Given the description of an element on the screen output the (x, y) to click on. 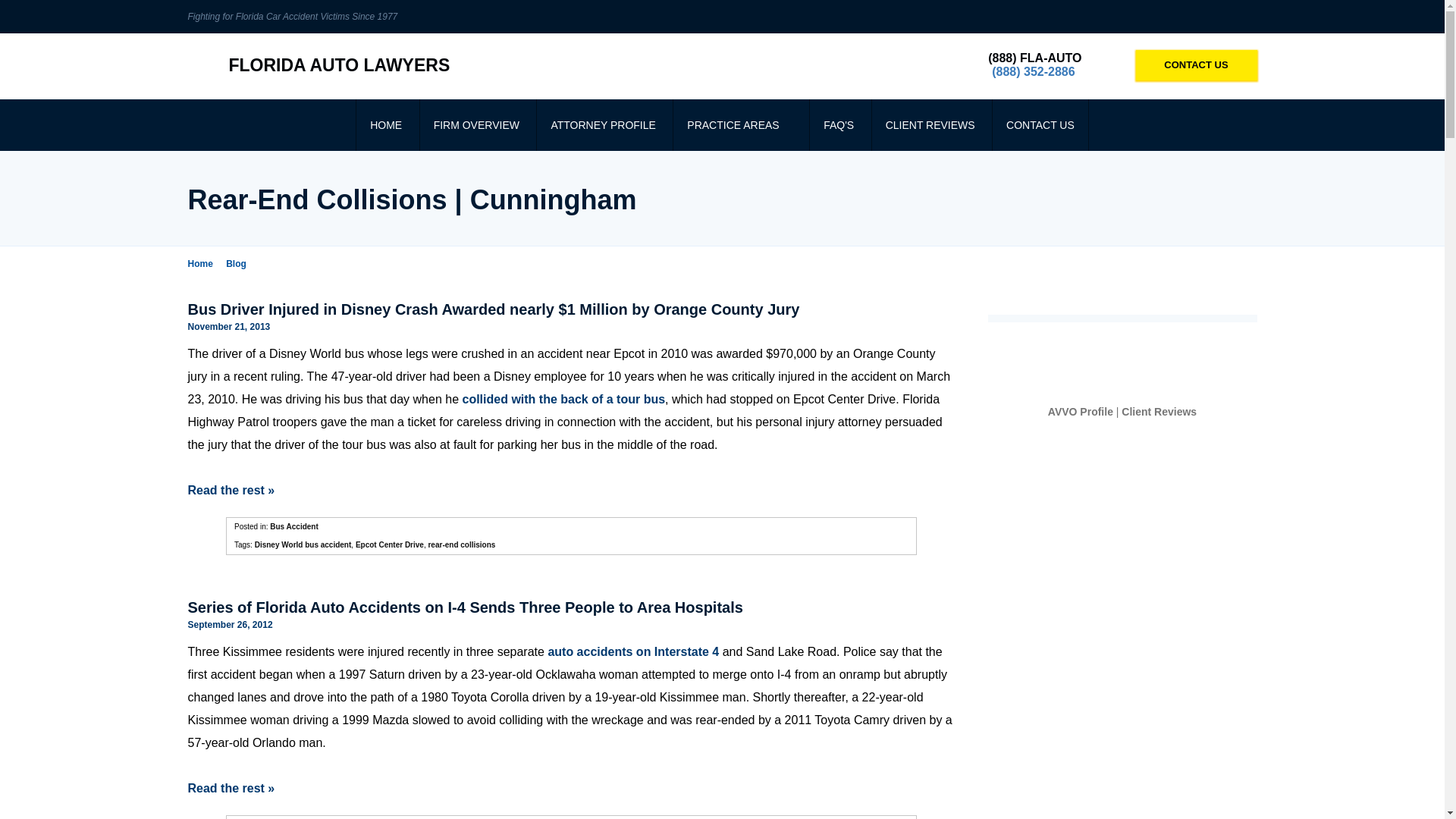
CONTACT US (1196, 64)
PRACTICE AREAS (738, 124)
FIRM OVERVIEW (476, 124)
HOME (385, 124)
ATTORNEY PROFILE (602, 124)
CLIENT REVIEWS (930, 124)
LinkedIn (1198, 16)
FAQ'S (838, 124)
Blog (240, 263)
collided with the back of a tour bus (564, 399)
Twitter (1245, 16)
Home (204, 263)
CONTACT US (1039, 124)
FLORIDA AUTO LAWYERS (318, 65)
